Given the description of an element on the screen output the (x, y) to click on. 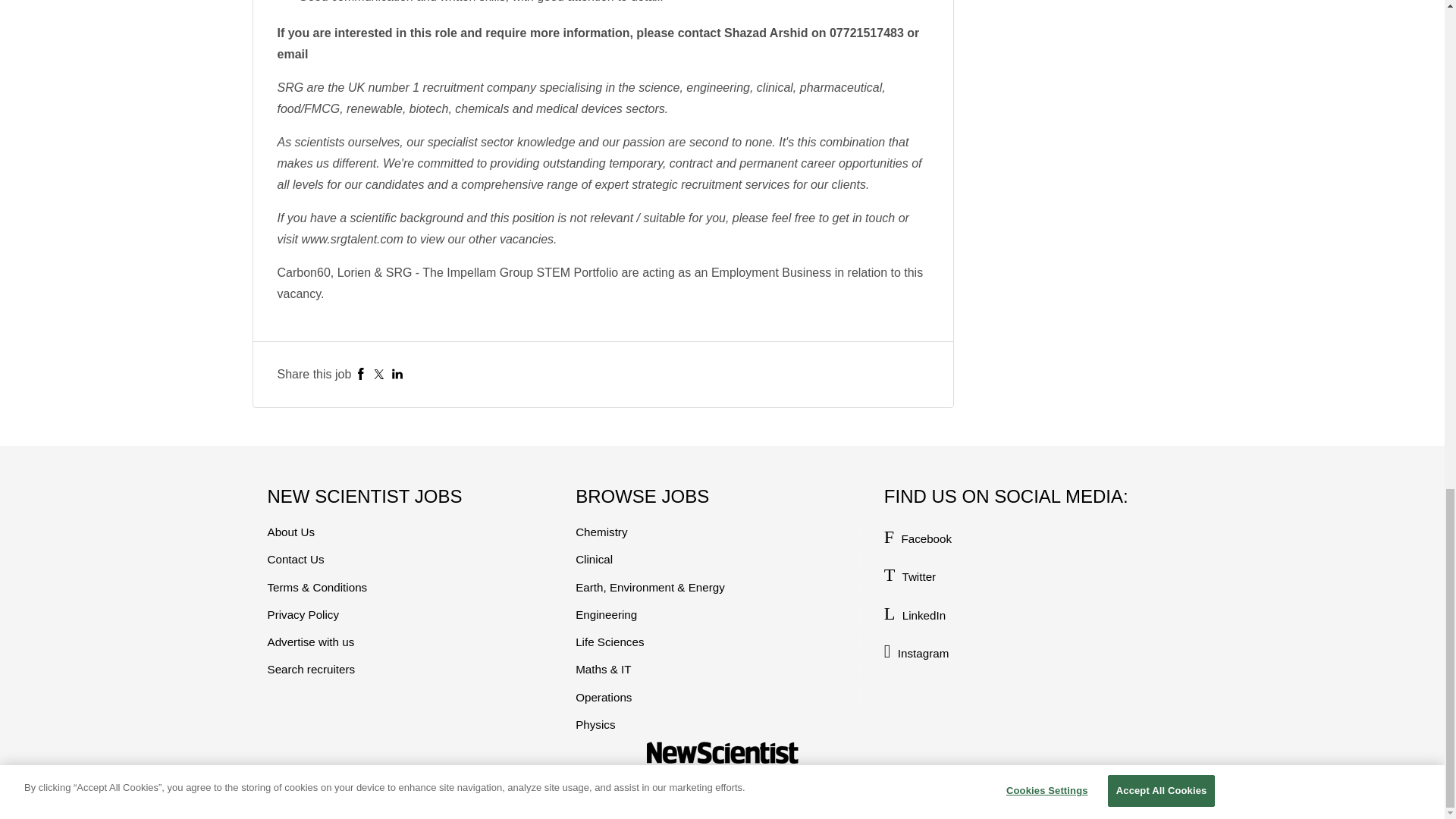
Facebook (360, 373)
Twitter (378, 373)
